Given the description of an element on the screen output the (x, y) to click on. 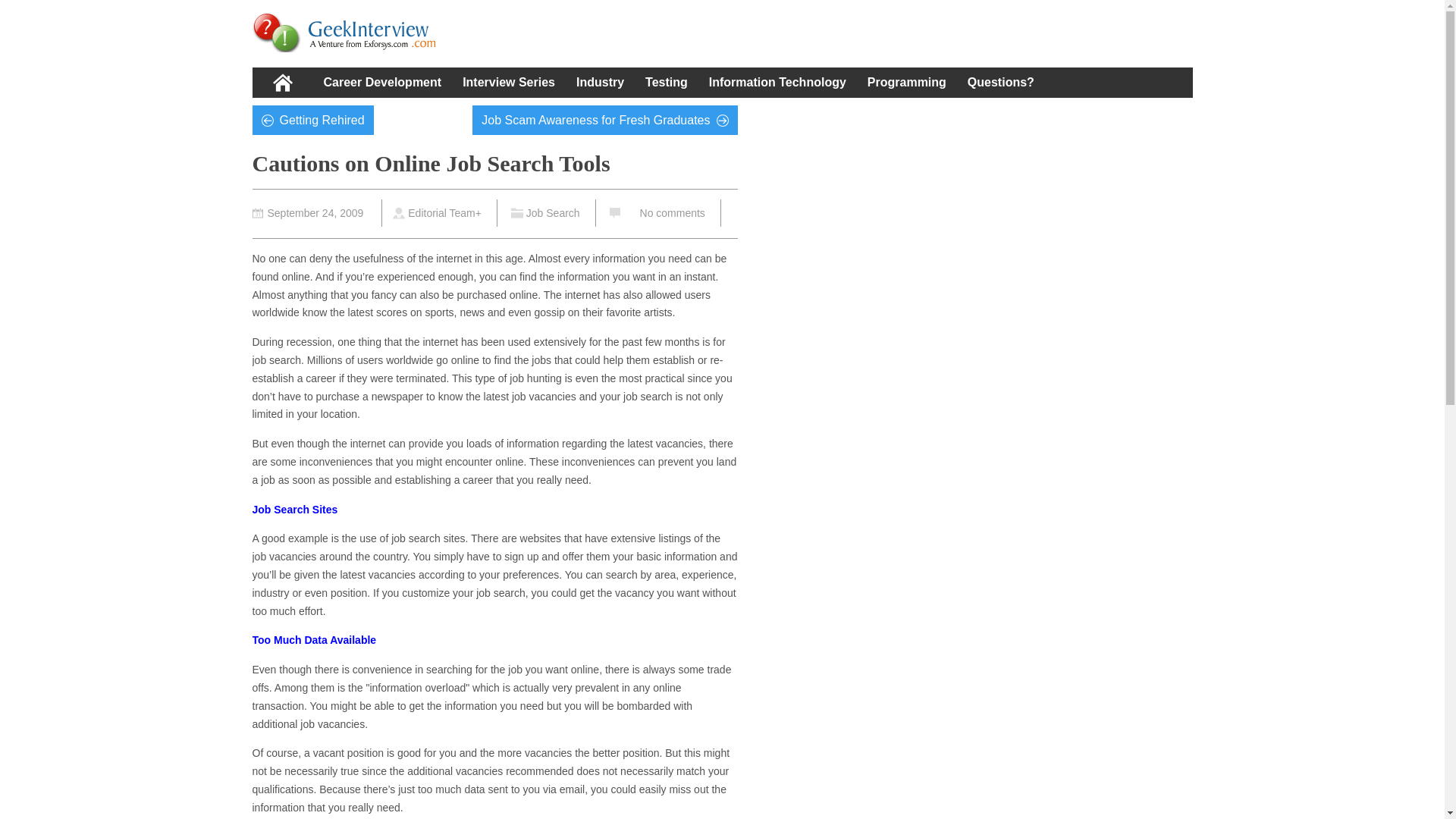
Career Development (382, 82)
Industry (600, 82)
Information Technology (777, 82)
Online Learning (347, 33)
Interview Series (508, 82)
Home (282, 82)
Posts by Editorial Team (440, 213)
Testing (666, 82)
